Given the description of an element on the screen output the (x, y) to click on. 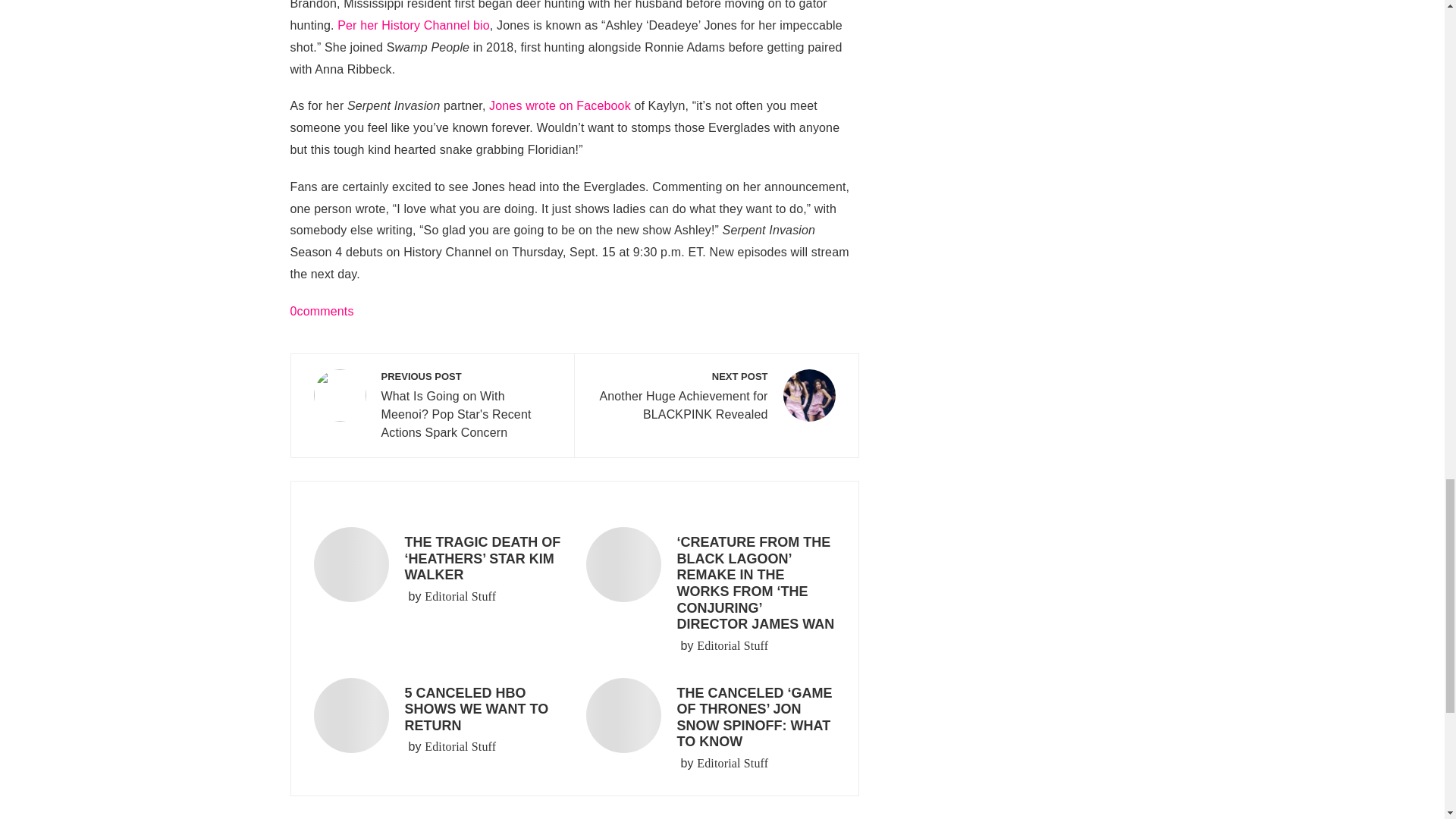
Editorial Stuff (460, 746)
Per her History Channel bio (413, 24)
Editorial Stuff (732, 646)
Jones wrote on Facebook (559, 105)
0comments (321, 310)
Editorial Stuff (715, 397)
Editorial Stuff (732, 763)
5 CANCELED HBO SHOWS WE WANT TO RETURN (460, 597)
